Given the description of an element on the screen output the (x, y) to click on. 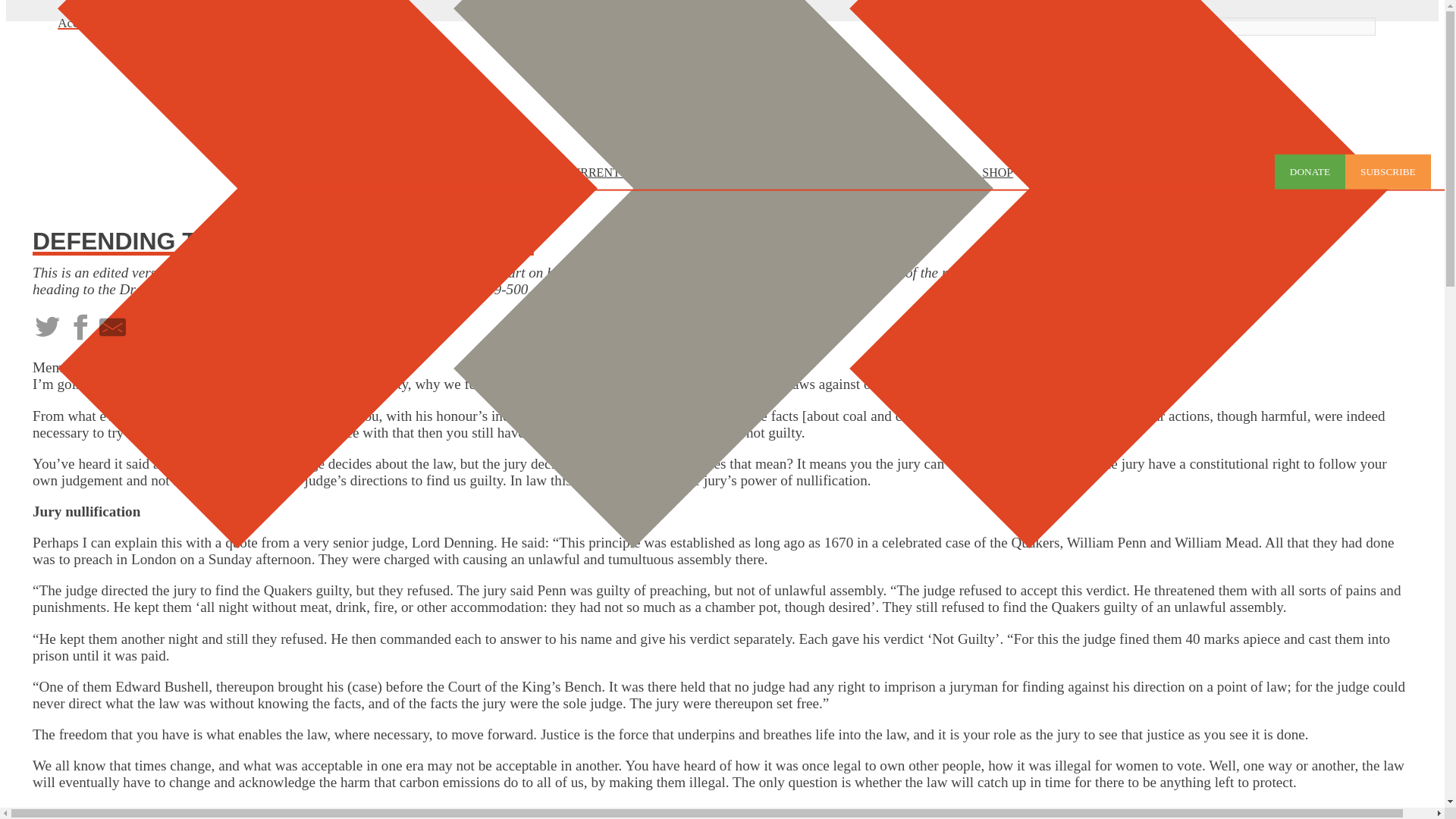
HOME (479, 172)
Events (946, 172)
DONATE (1310, 171)
ABOUT (530, 172)
About (530, 172)
SEARCH (1151, 26)
ARCHIVE (694, 172)
Account (79, 22)
SUBSCRIBE (1388, 171)
